Given the description of an element on the screen output the (x, y) to click on. 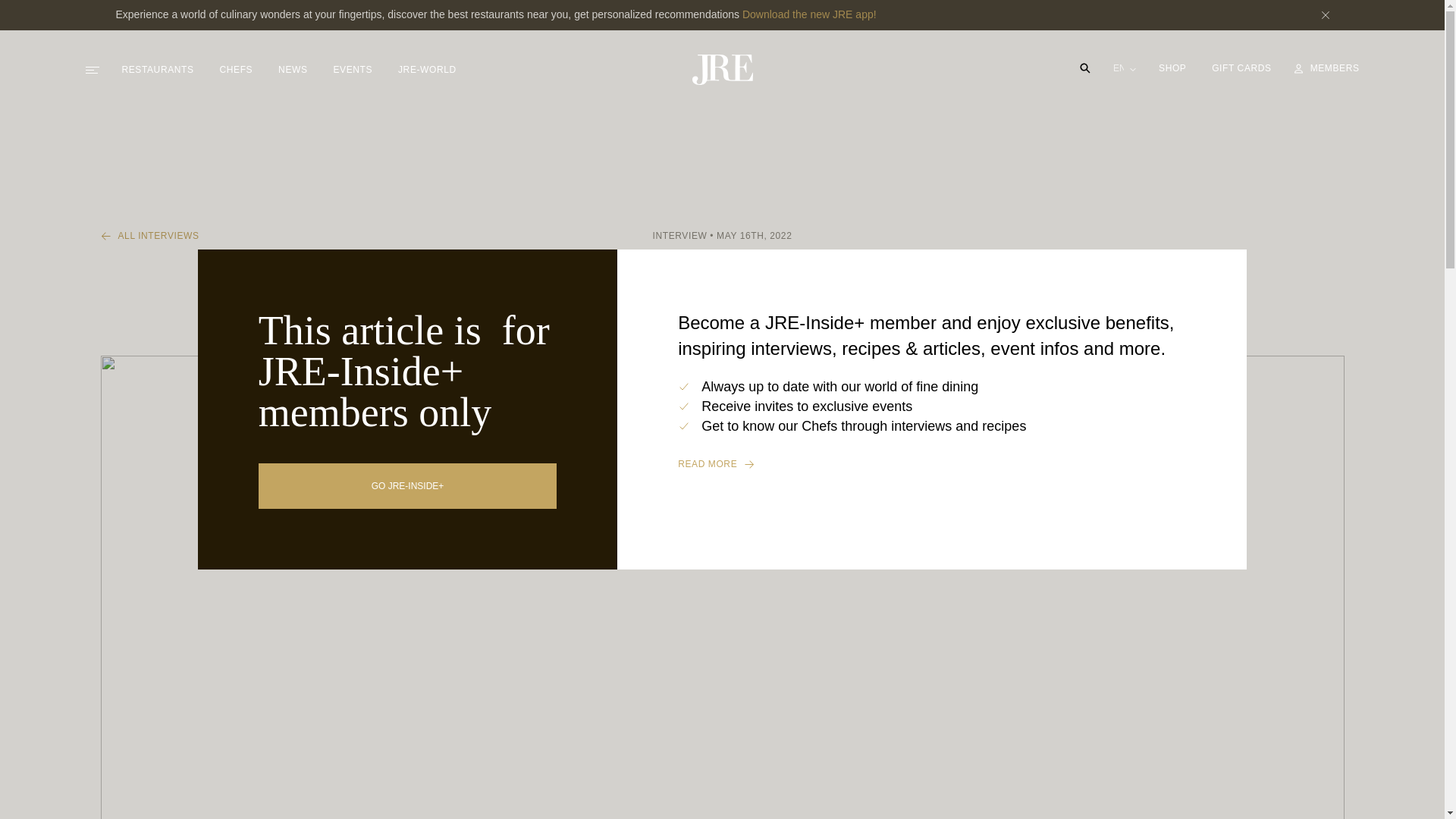
SHOP (1173, 68)
EVENTS (352, 68)
JRE-WORLD (427, 68)
GIFT CARDS (1241, 68)
READ MORE (932, 464)
home (721, 69)
CHEFS (236, 68)
RESTAURANTS (156, 68)
NEWS (292, 68)
MEMBERS (1326, 68)
